Given the description of an element on the screen output the (x, y) to click on. 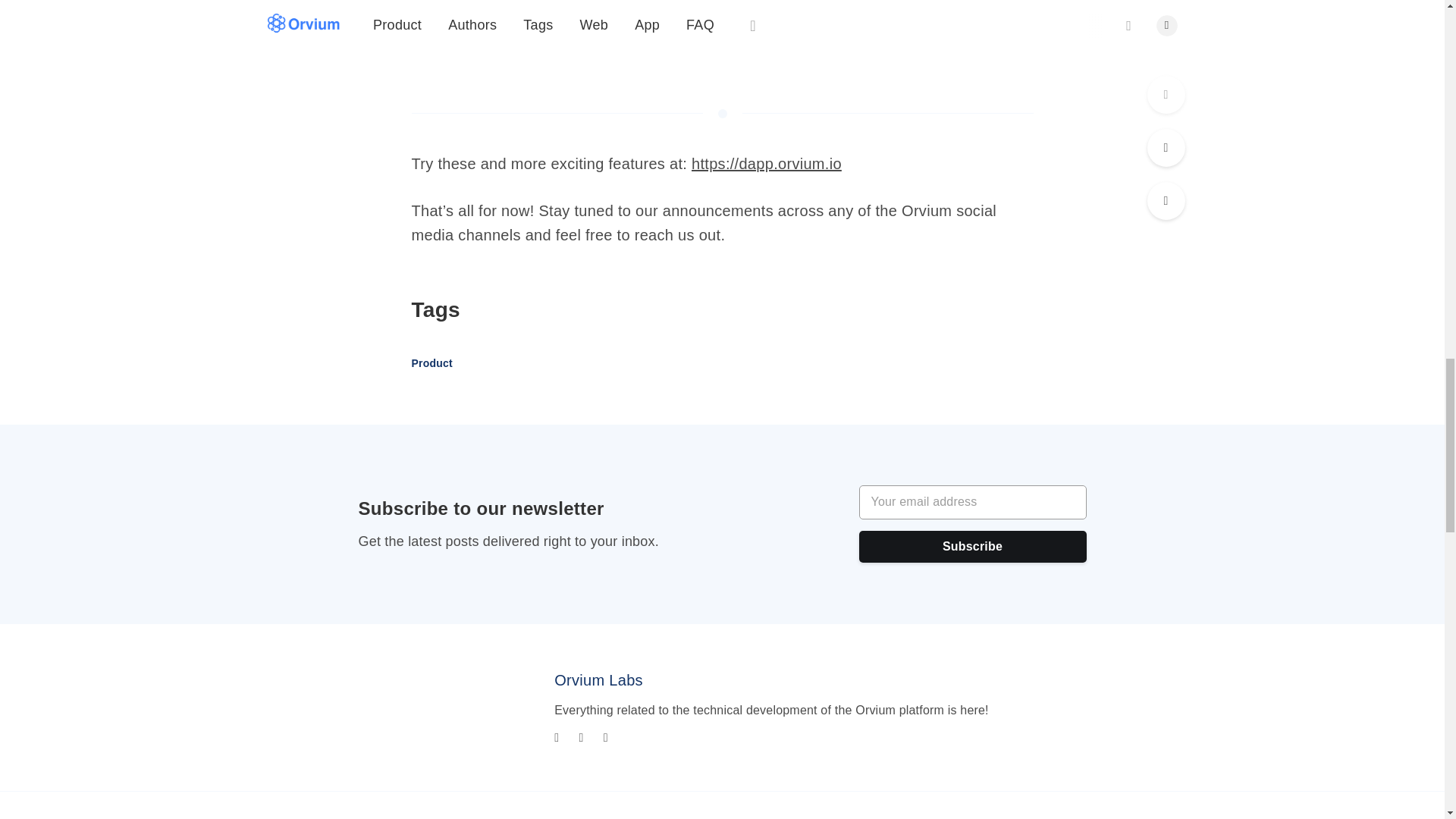
Subscribe (972, 546)
Product (430, 363)
Product (430, 363)
Orvium Labs (598, 679)
